Given the description of an element on the screen output the (x, y) to click on. 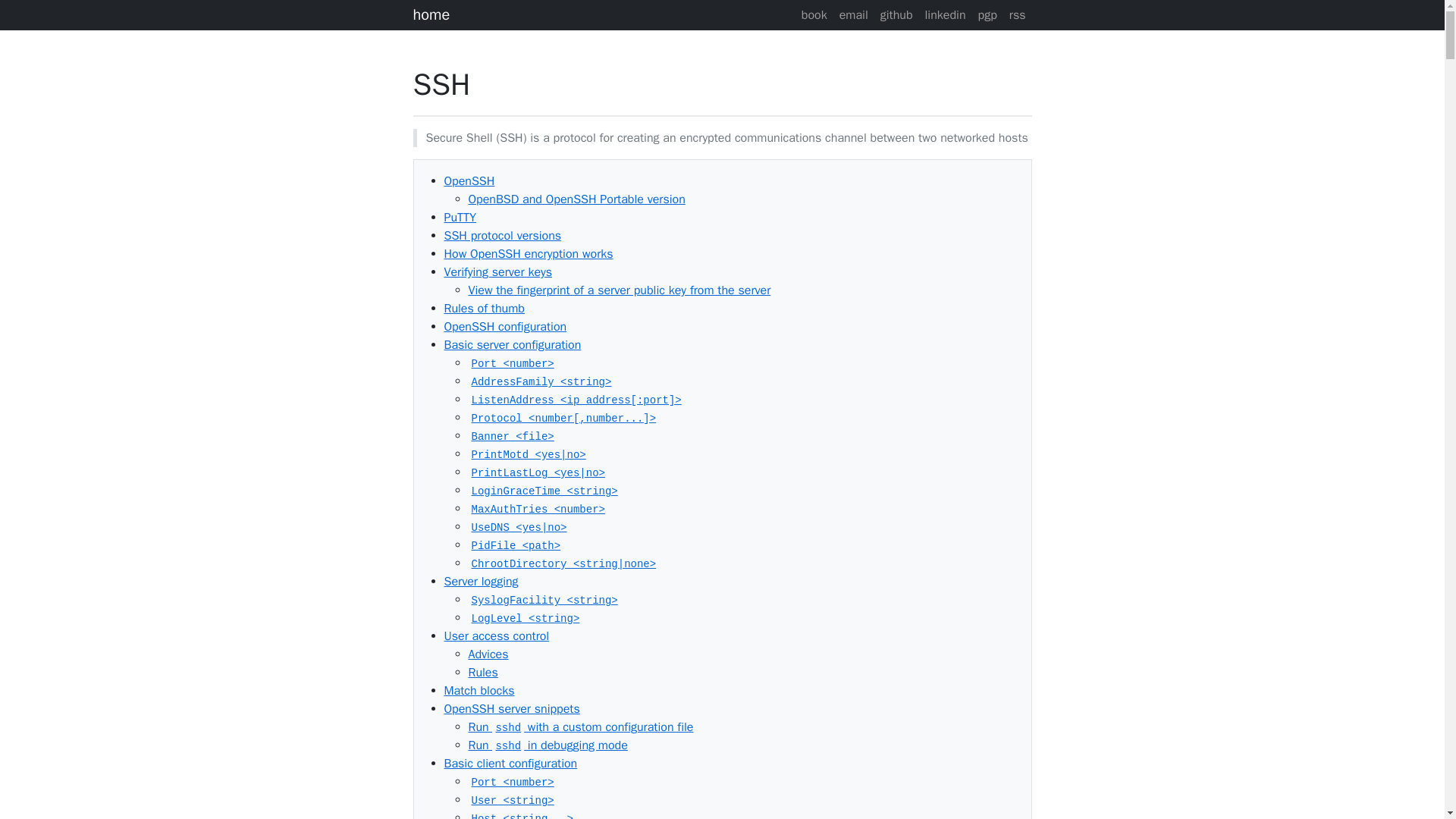
View the fingerprint of a server public key from the server (619, 290)
book (813, 15)
OpenBSD and OpenSSH Portable version (576, 199)
User access control (497, 635)
Match blocks (479, 690)
SSH protocol versions (503, 235)
Run sshd in debugging mode (547, 744)
OpenSSH (469, 181)
Rules of thumb (484, 308)
Email (853, 15)
PuTTY (460, 217)
pgp (987, 15)
github (896, 15)
home (597, 15)
How OpenSSH encryption works (528, 253)
